Given the description of an element on the screen output the (x, y) to click on. 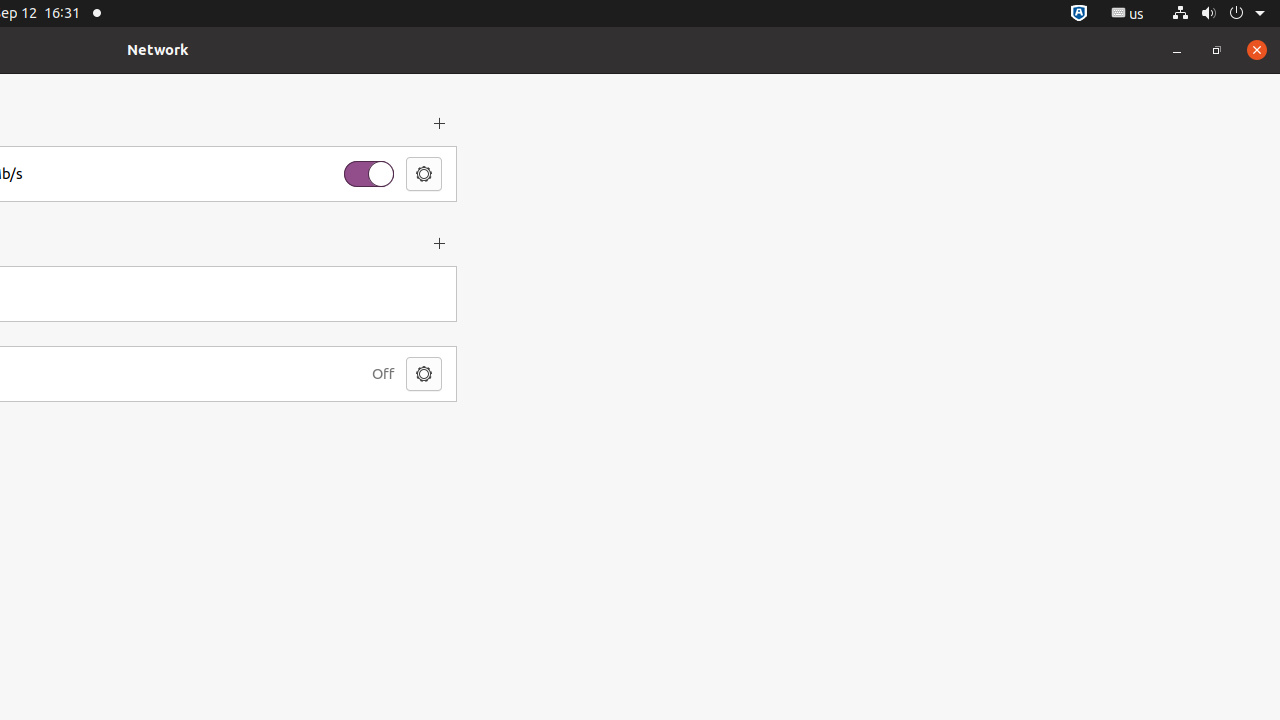
Restore Element type: push-button (1217, 50)
Network Element type: label (157, 49)
Minimize Element type: push-button (1177, 50)
